Given the description of an element on the screen output the (x, y) to click on. 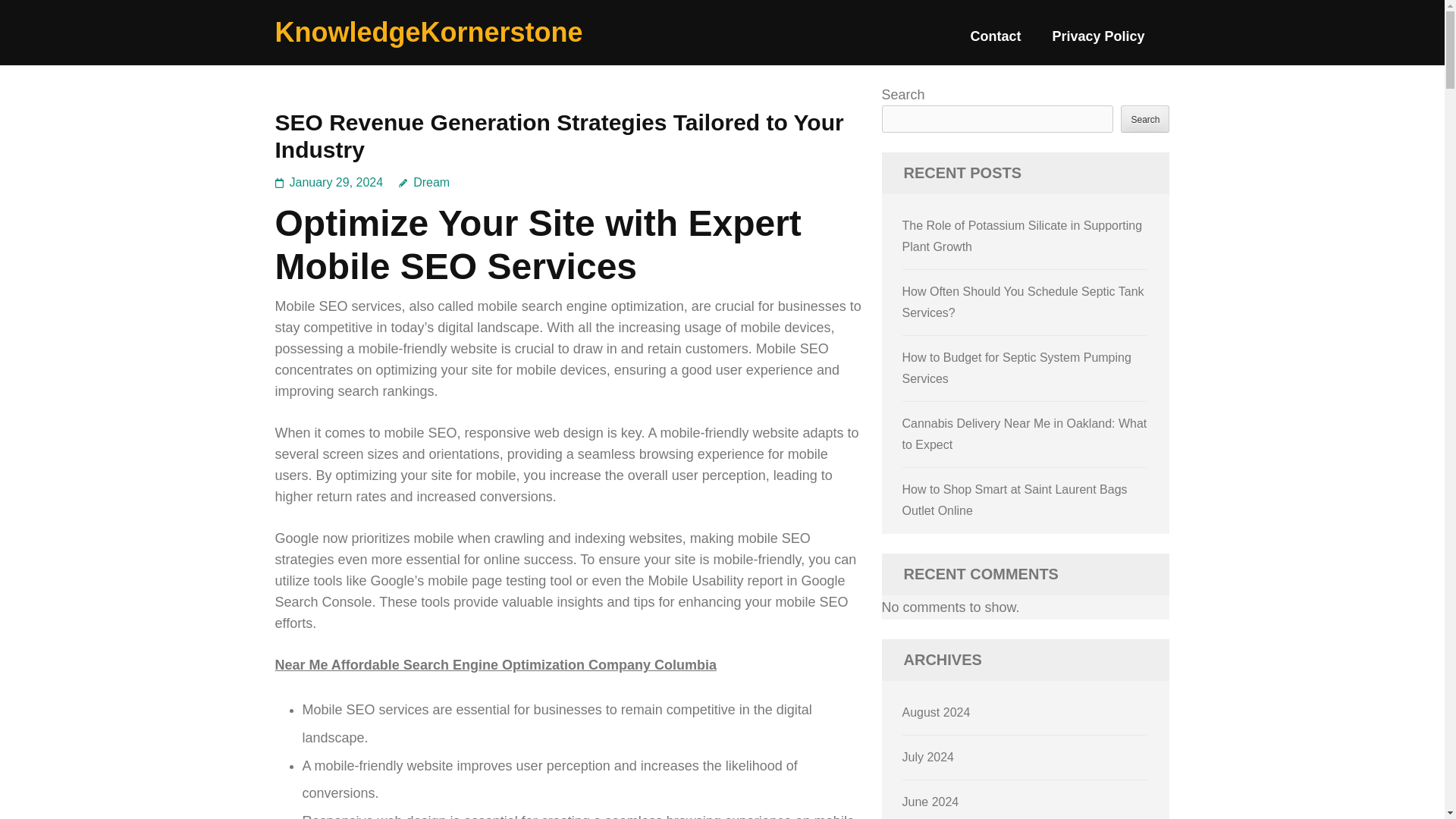
How Often Should You Schedule Septic Tank Services? (1023, 302)
Dream (423, 182)
Search (1145, 118)
KnowledgeKornerstone (428, 31)
Contact (994, 42)
The Role of Potassium Silicate in Supporting Plant Growth (1022, 236)
How to Budget for Septic System Pumping Services (1016, 367)
Privacy Policy (1097, 42)
January 29, 2024 (336, 182)
August 2024 (936, 712)
